Given the description of an element on the screen output the (x, y) to click on. 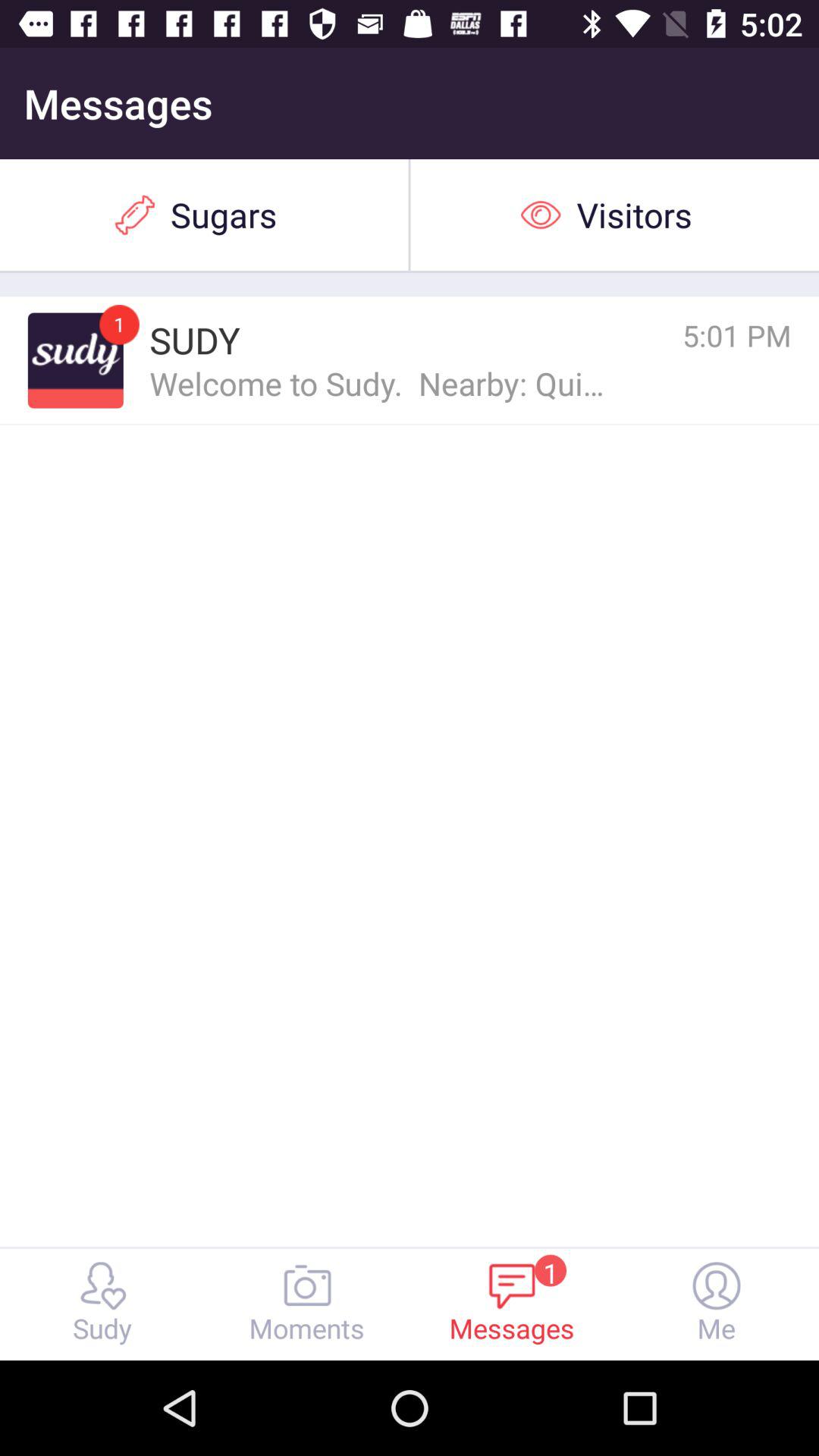
turn on item to the left of the sudy item (119, 324)
